Given the description of an element on the screen output the (x, y) to click on. 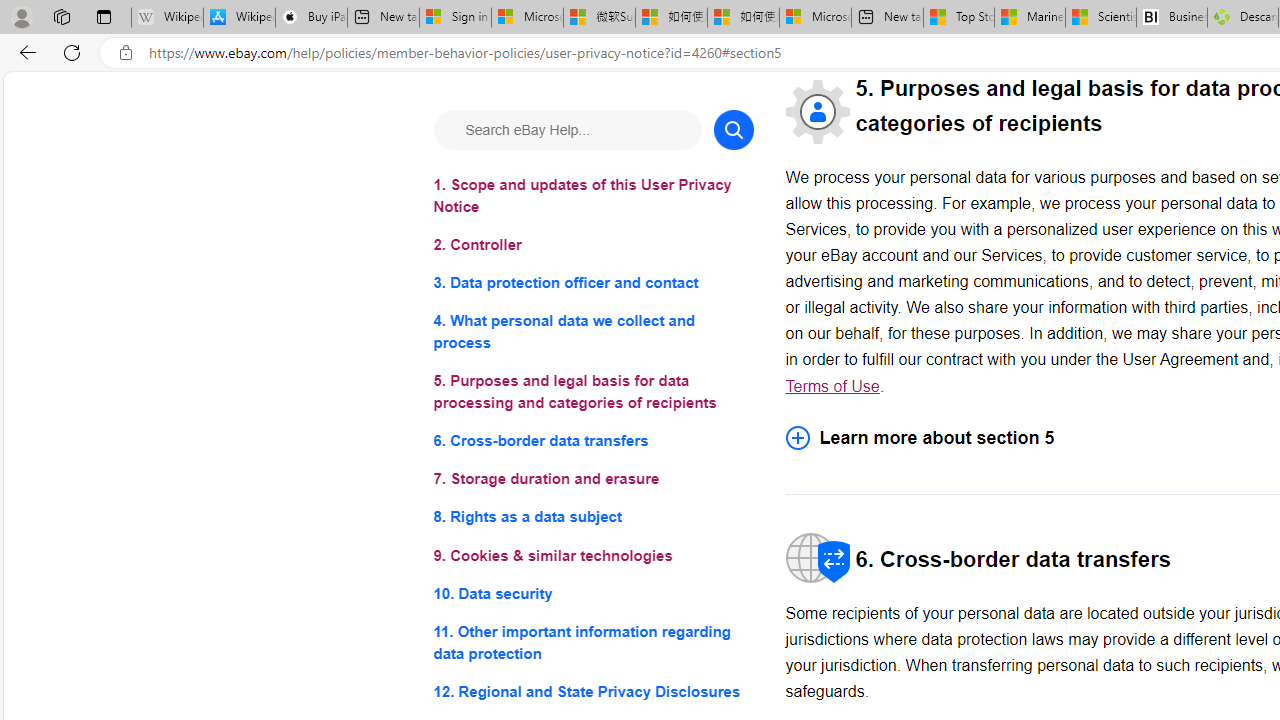
10. Data security (592, 592)
12. Regional and State Privacy Disclosures (592, 690)
2. Controller (592, 245)
2. Controller (592, 245)
11. Other important information regarding data protection (592, 642)
3. Data protection officer and contact (592, 283)
12. Regional and State Privacy Disclosures (592, 690)
Marine life - MSN (1029, 17)
